Given the description of an element on the screen output the (x, y) to click on. 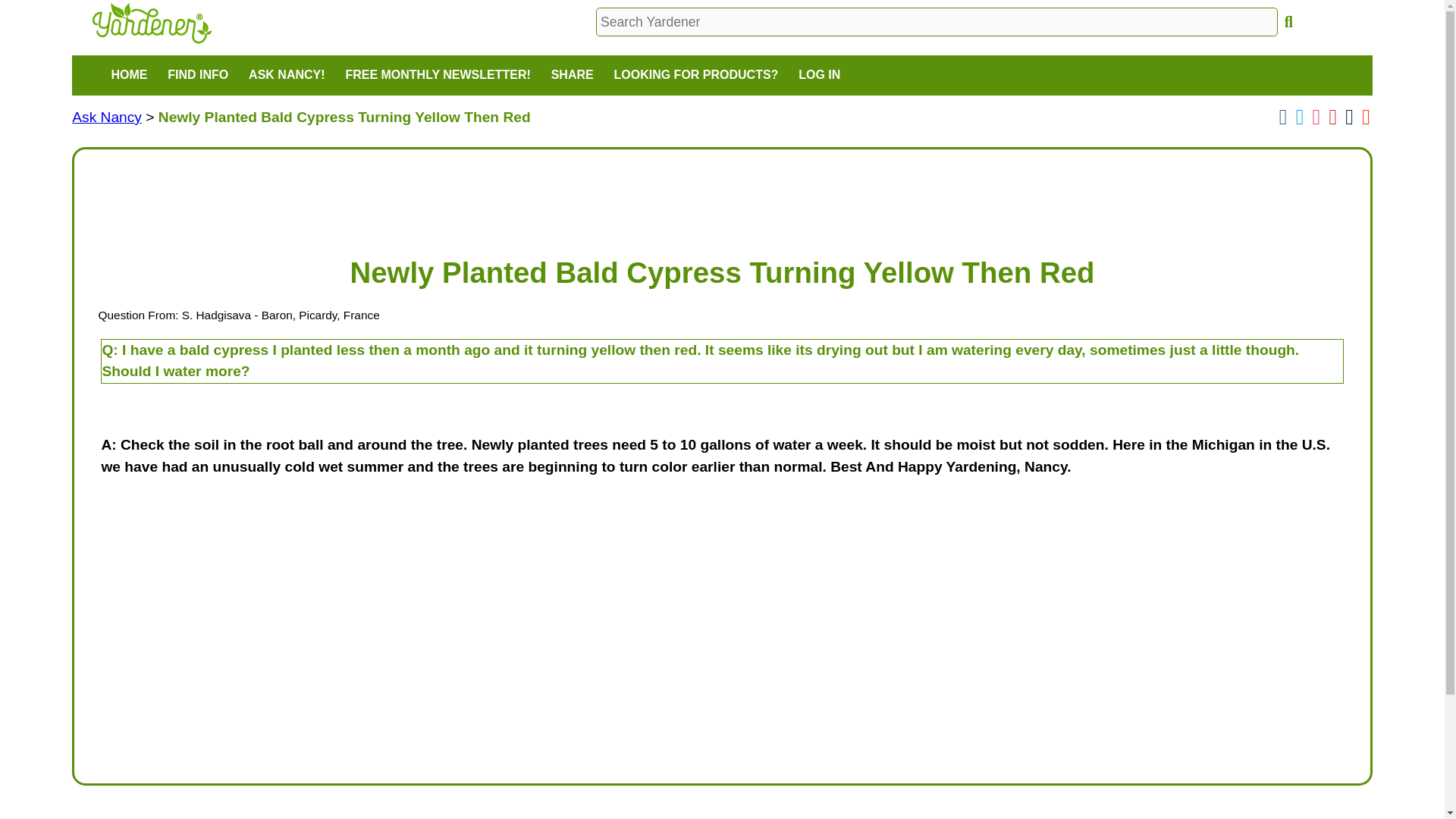
SHARE (571, 75)
ASK NANCY! (286, 75)
FREE MONTHLY NEWSLETTER! (437, 75)
HOME (128, 75)
Get Professional Advice For Your Yardening Questions (106, 116)
FIND INFO (196, 75)
LOOKING FOR PRODUCTS? (695, 75)
LOG IN (819, 75)
Ask Nancy (106, 116)
